Given the description of an element on the screen output the (x, y) to click on. 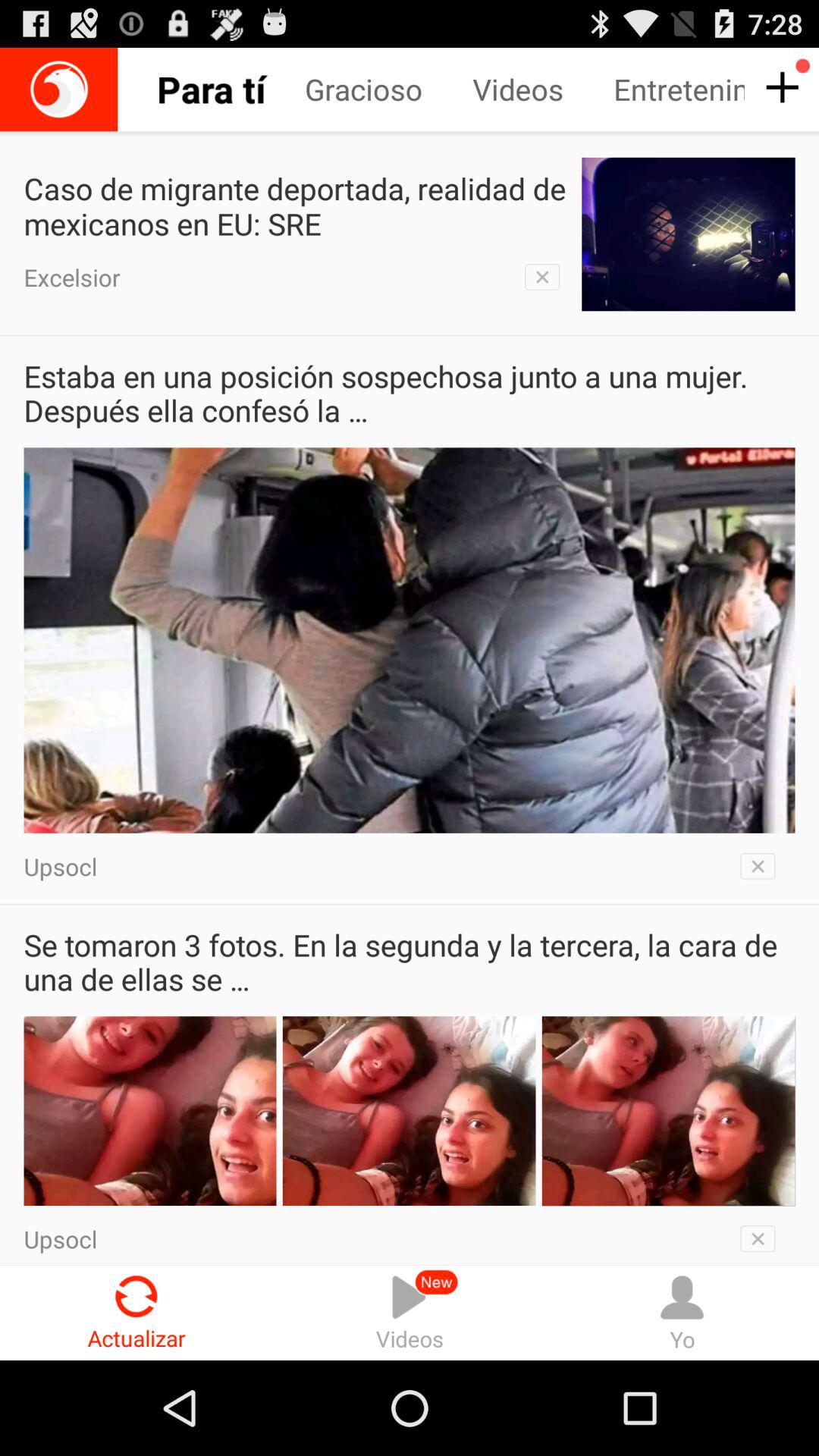
turn on the entretenimiento icon (678, 89)
